Given the description of an element on the screen output the (x, y) to click on. 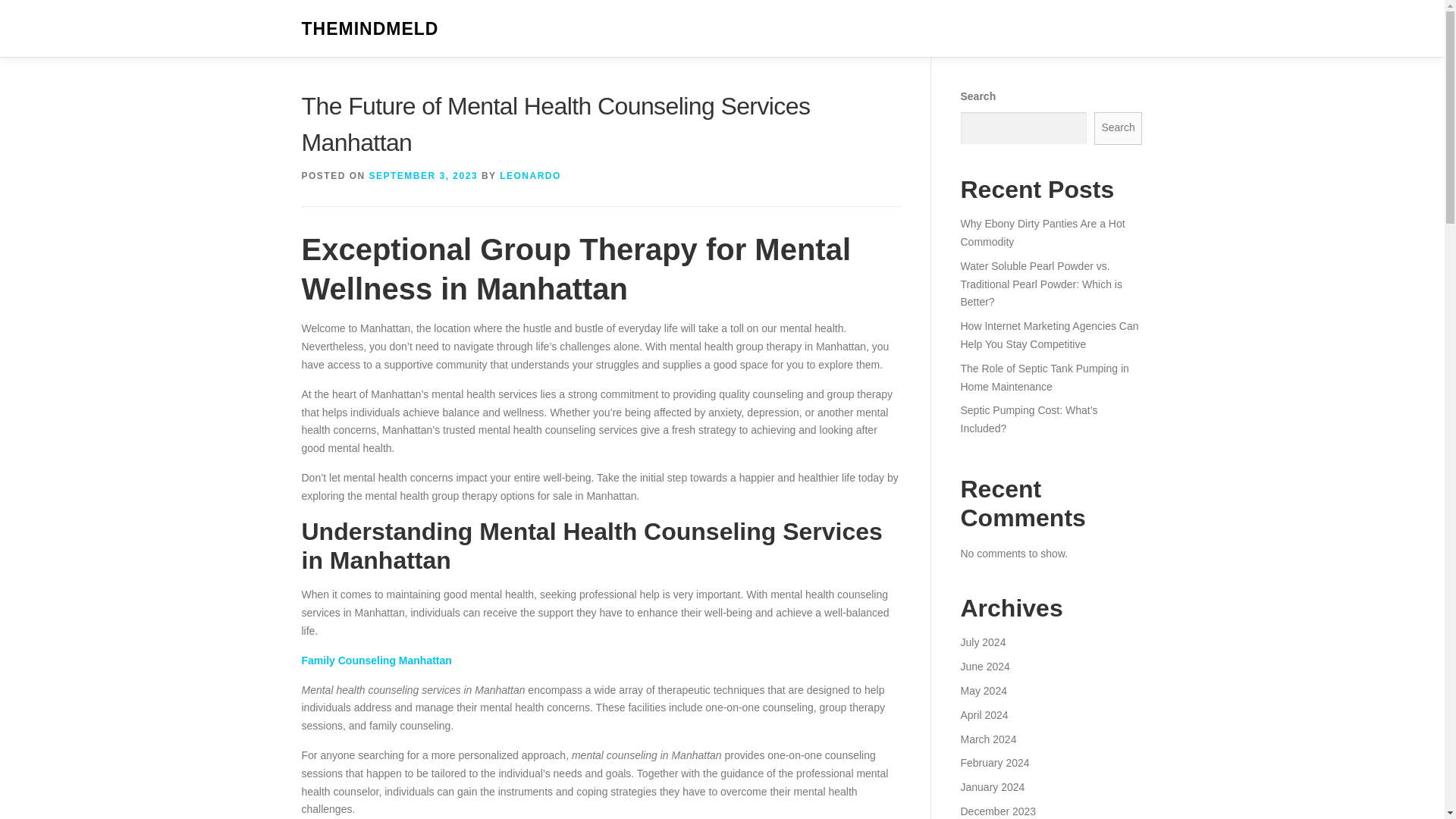
Attributes of a Leading Search Engine Optimization Firm (1048, 275)
THEMINDMELD (370, 29)
June 2024 (984, 690)
SEPTEMBER 3, 2023 (424, 175)
January 2024 (992, 811)
Why Ebony Dirty Panties Are a Hot Commodity (1041, 419)
February 2024 (994, 787)
Family Counseling Manhattan (376, 660)
LEONARDO (529, 175)
